Given the description of an element on the screen output the (x, y) to click on. 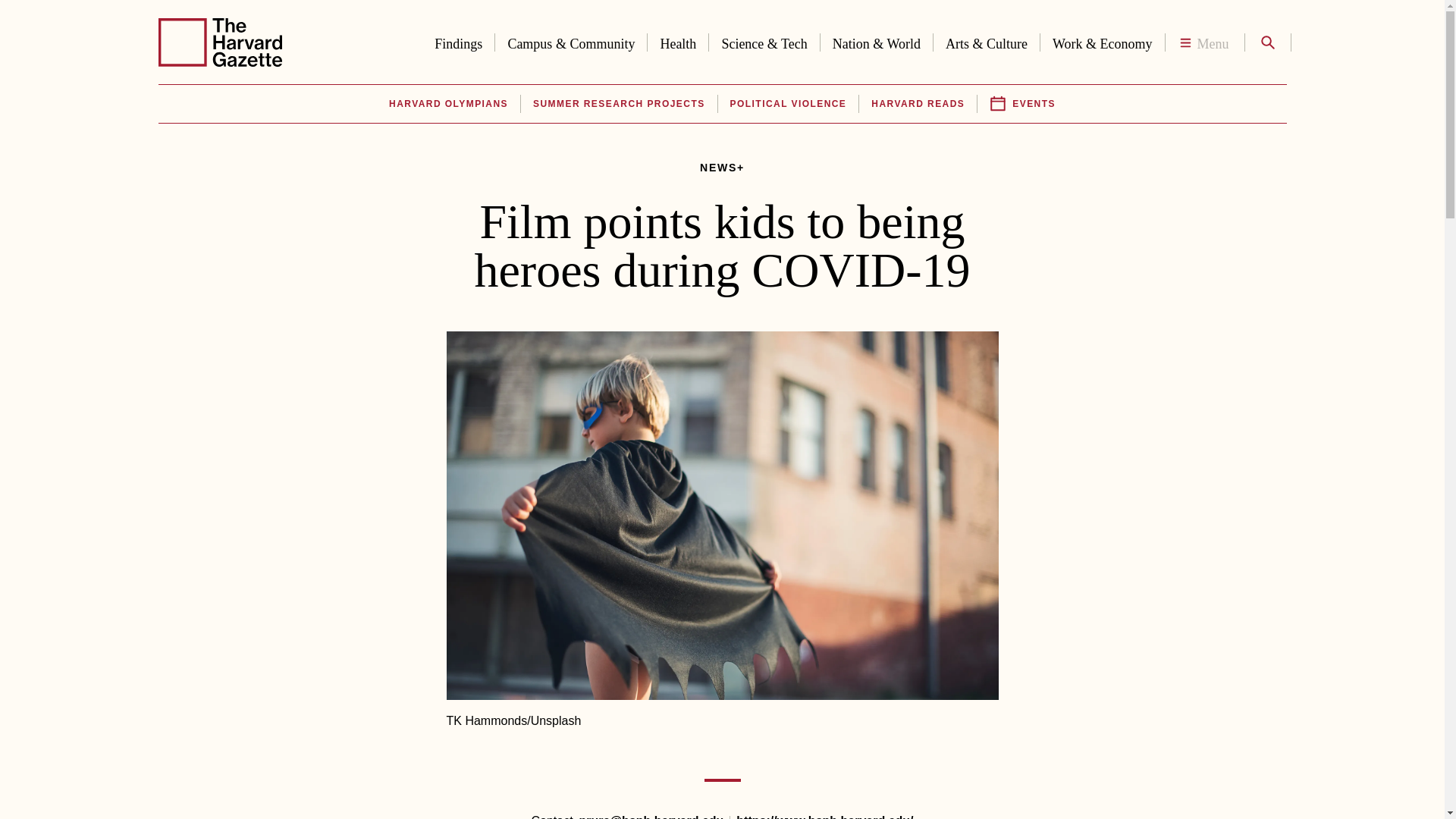
Findings (457, 41)
HARVARD OLYMPIANS (448, 103)
Health (677, 41)
Menu (1204, 42)
SUMMER RESEARCH PROJECTS (619, 103)
